Given the description of an element on the screen output the (x, y) to click on. 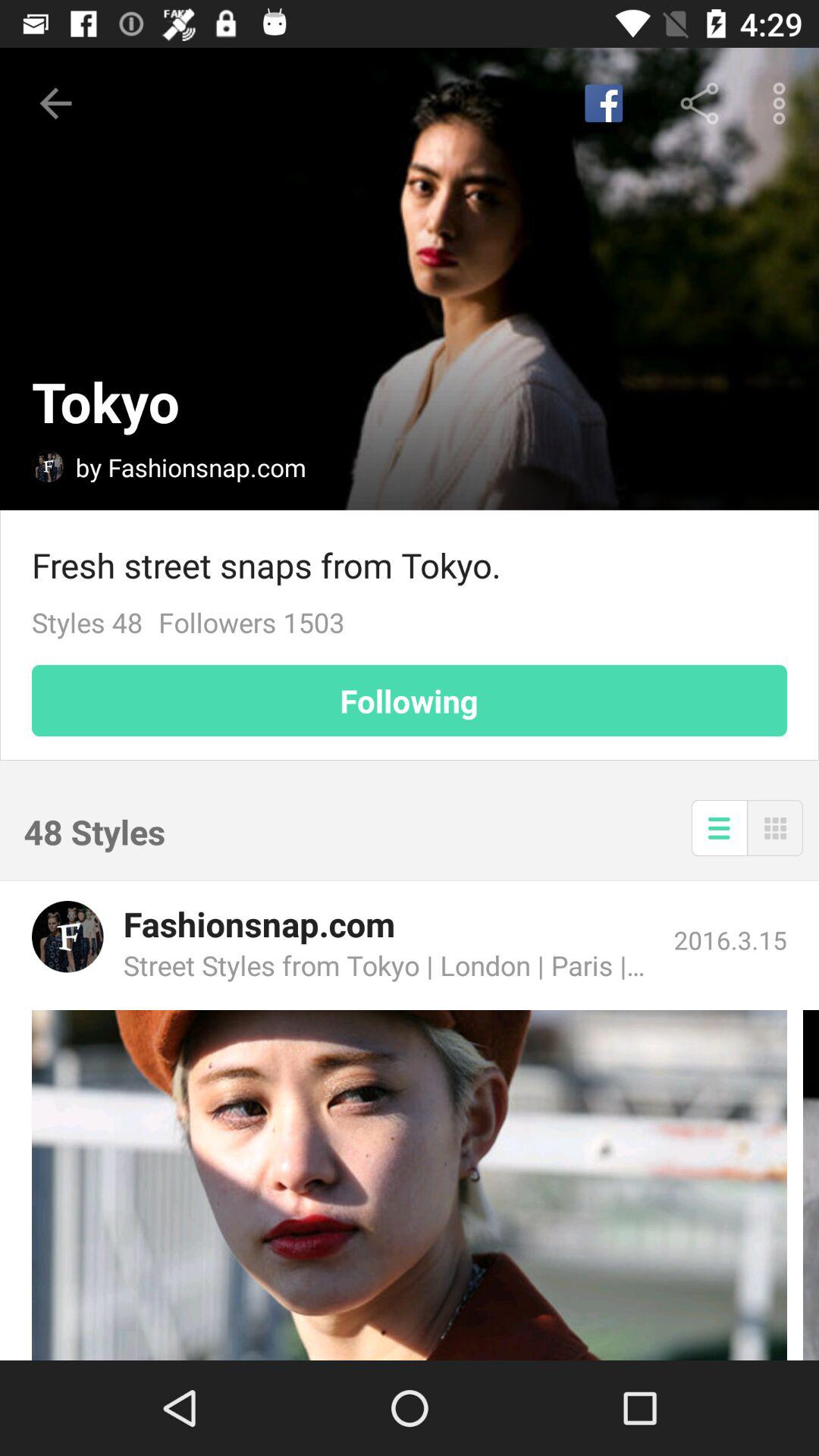
launch the icon next to 48 styles icon (718, 827)
